Given the description of an element on the screen output the (x, y) to click on. 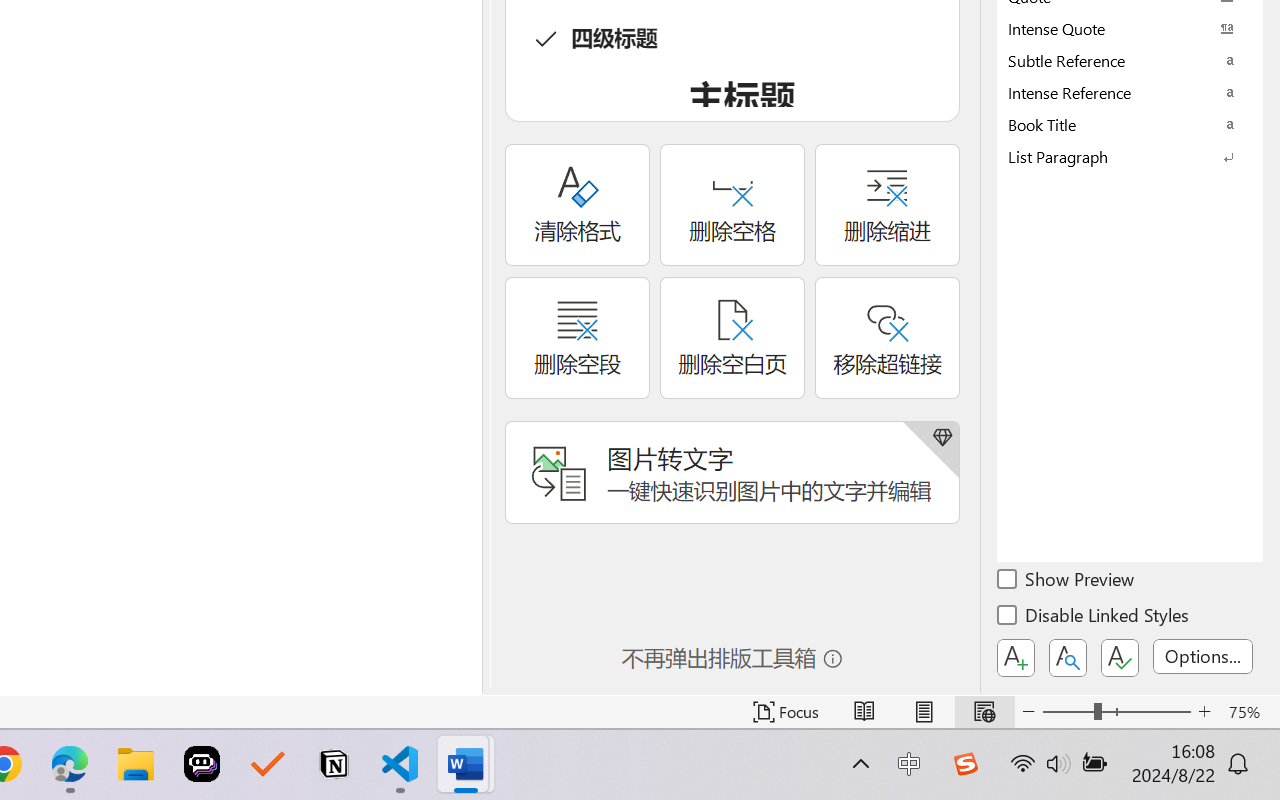
Class: NetUIButton (1119, 657)
Options... (1203, 656)
Disable Linked Styles (1094, 618)
Zoom (1116, 712)
Book Title (1130, 124)
List Paragraph (1130, 156)
Show Preview (1067, 582)
Zoom Out (1067, 712)
Read Mode (864, 712)
Web Layout (984, 712)
Class: NetUIImage (1116, 156)
